Given the description of an element on the screen output the (x, y) to click on. 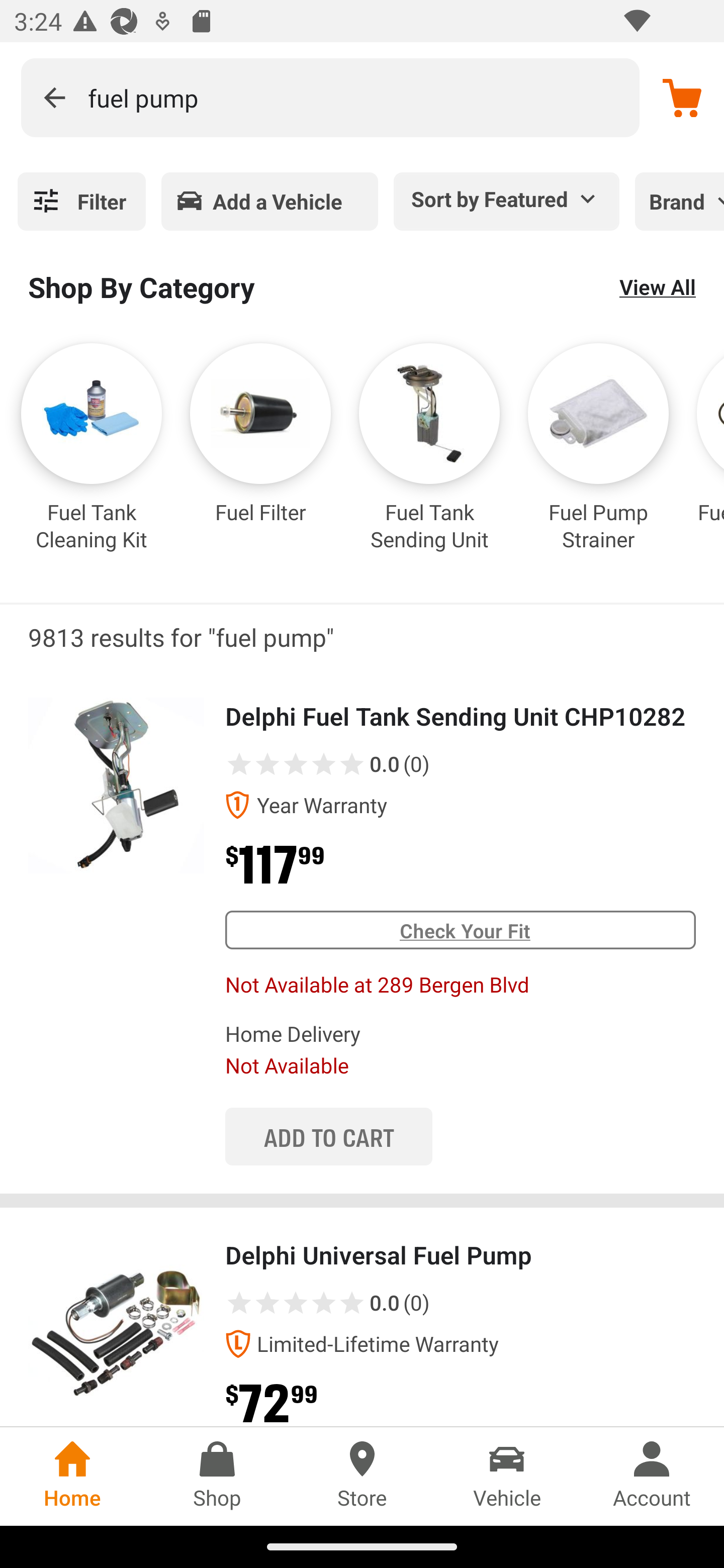
Find parts and products  fuel pump (330, 97)
 (54, 97)
Cart, no items  (681, 97)
Filter (81, 201)
 Add a Vehicle (269, 201)
Brand  (679, 201)
collapsed Sort by Featured  (506, 198)
View all categories View All (657, 286)
Fuel Tank Cleaning Kit (91, 462)
Fuel Filter (259, 462)
Fuel Tank Sending Unit (429, 462)
Fuel Pump Strainer (597, 462)
Delphi Fuel Tank Sending Unit CHP10282 (116, 785)
Press to rate 1 out of 5  (239, 763)
Press to rate 2 out of 5  (267, 763)
Press to rate 3 out of 5  (295, 763)
Press to rate 4 out of 5  (323, 763)
Press to rate 5 out of 5  (352, 763)
Check your fit Check Your Fit (460, 929)
Add to cart ADD TO CART (328, 1136)
Delphi Universal Fuel Pump (116, 1323)
Press to rate 1 out of 5  (239, 1302)
Press to rate 2 out of 5  (267, 1302)
Press to rate 3 out of 5  (295, 1302)
Press to rate 4 out of 5  (323, 1302)
Press to rate 5 out of 5  (352, 1302)
Home (72, 1475)
Shop (216, 1475)
Store (361, 1475)
Vehicle (506, 1475)
Account (651, 1475)
